Given the description of an element on the screen output the (x, y) to click on. 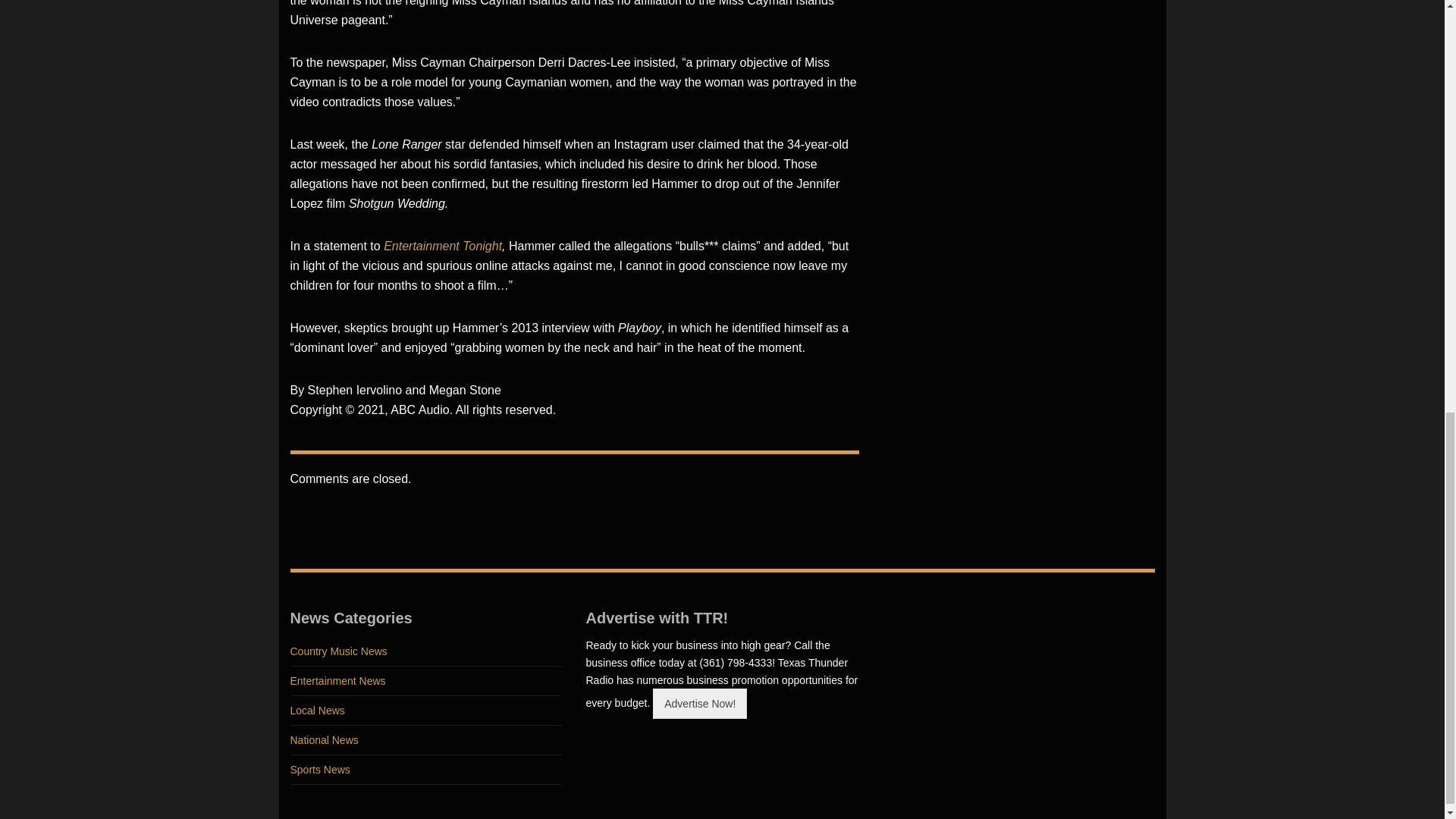
Entertainment News (425, 681)
Advertise Now! (699, 702)
Advertise Now! (699, 703)
Local News (425, 710)
National News (425, 740)
Sports News (425, 769)
Country Music News (425, 651)
Entertainment Tonight (443, 245)
